Given the description of an element on the screen output the (x, y) to click on. 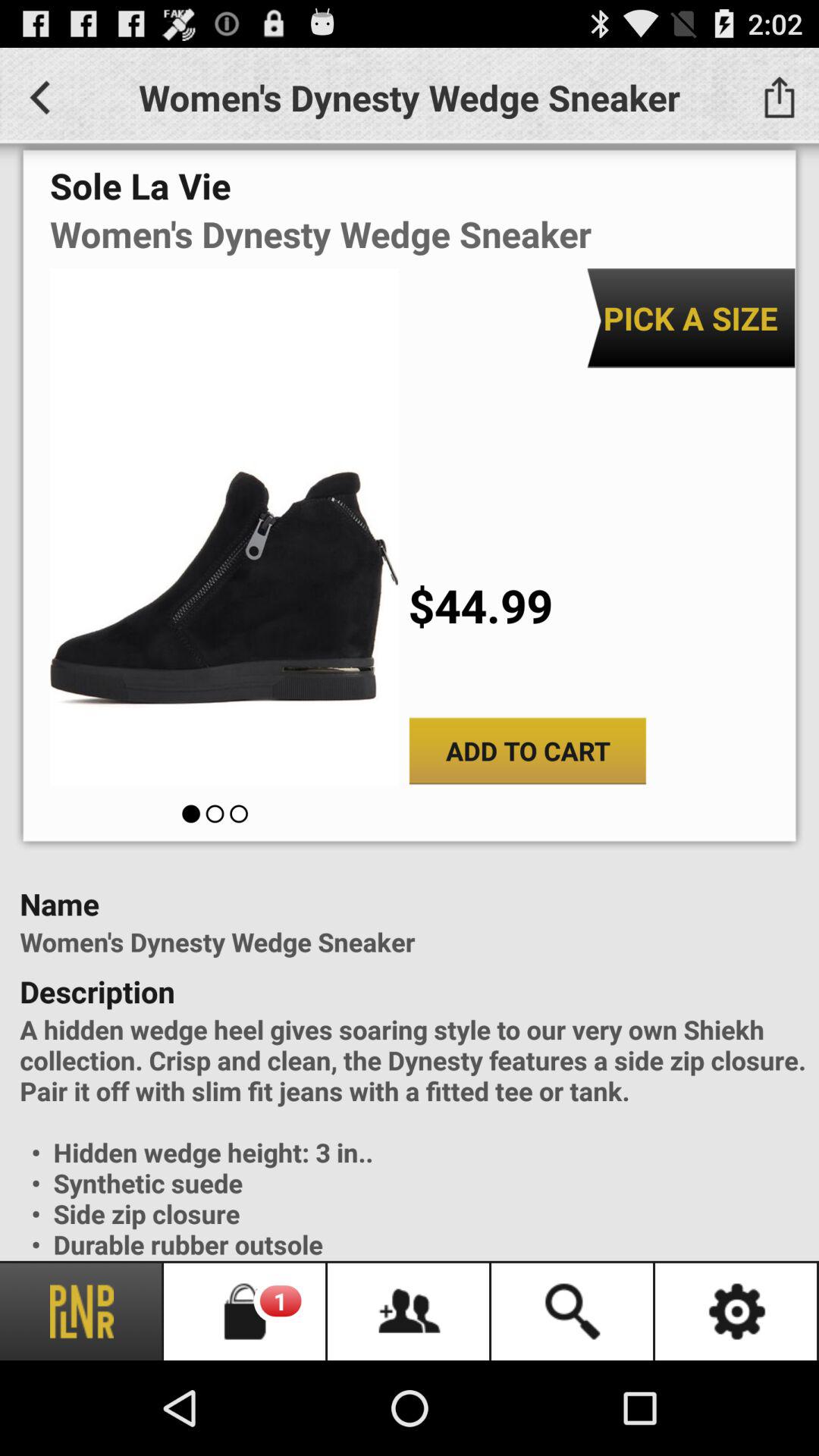
open the add to cart button (527, 751)
